Given the description of an element on the screen output the (x, y) to click on. 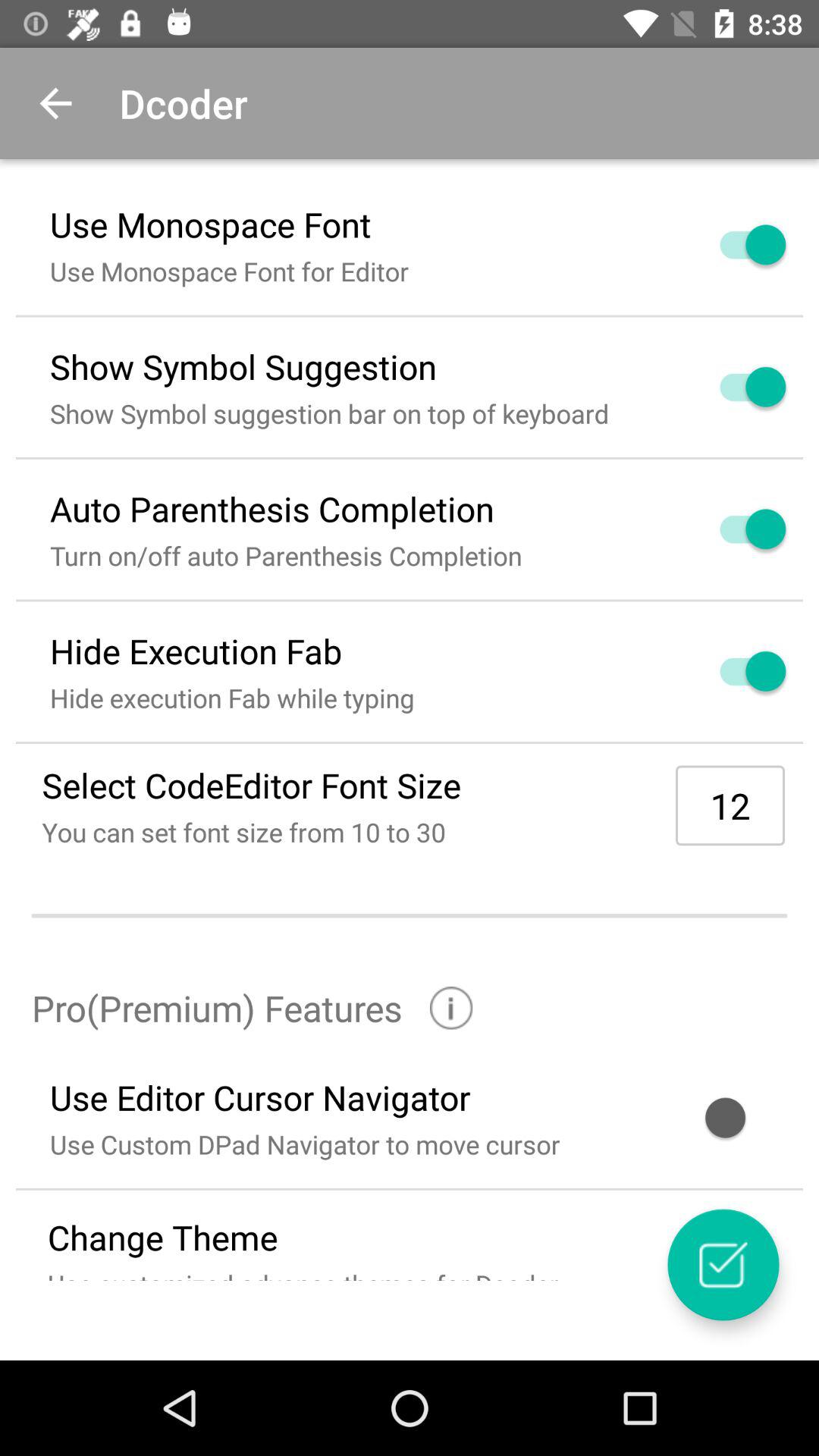
choose the icon to the right of use customized advance icon (723, 1264)
